Given the description of an element on the screen output the (x, y) to click on. 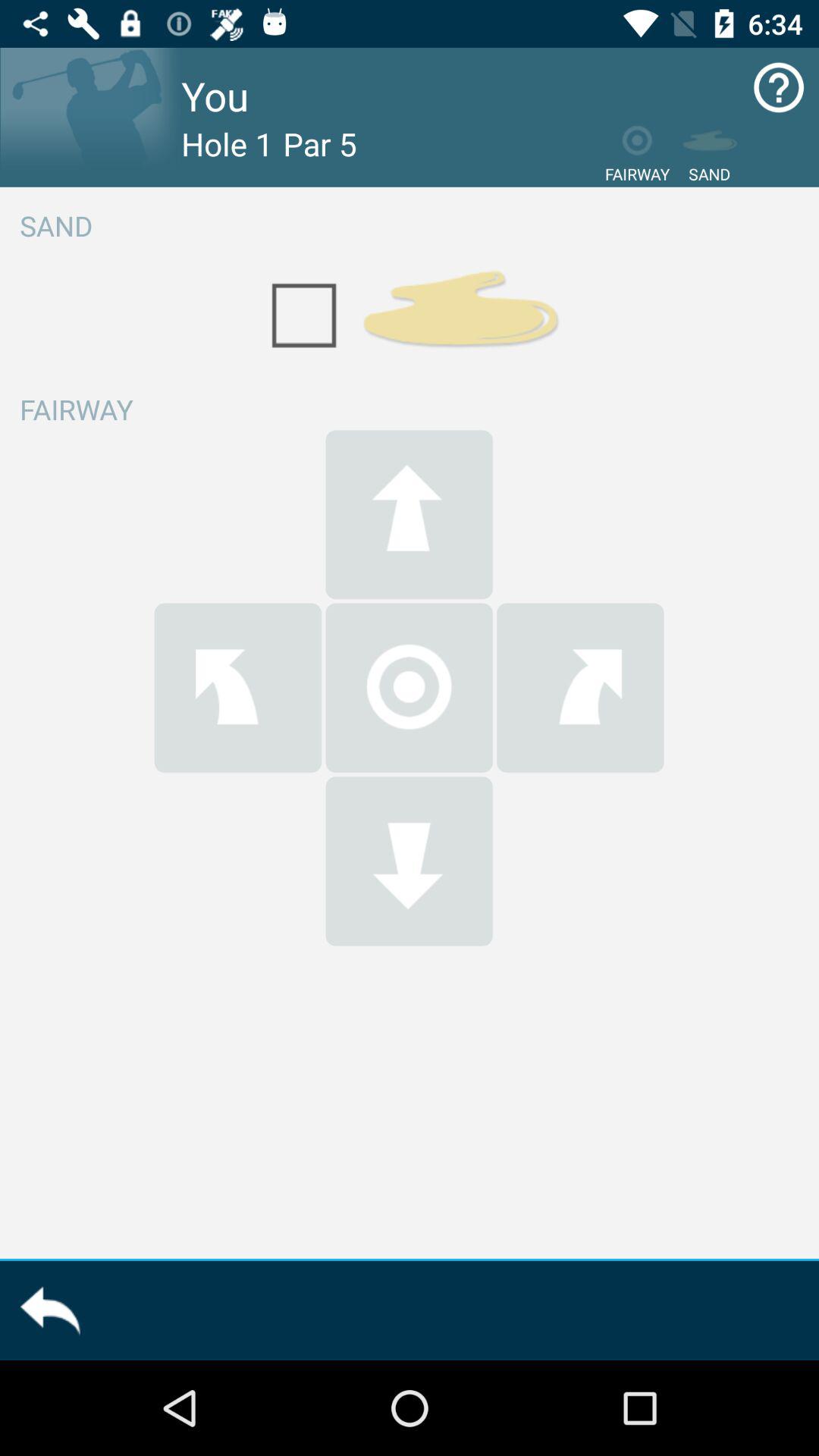
aim forward (408, 514)
